Given the description of an element on the screen output the (x, y) to click on. 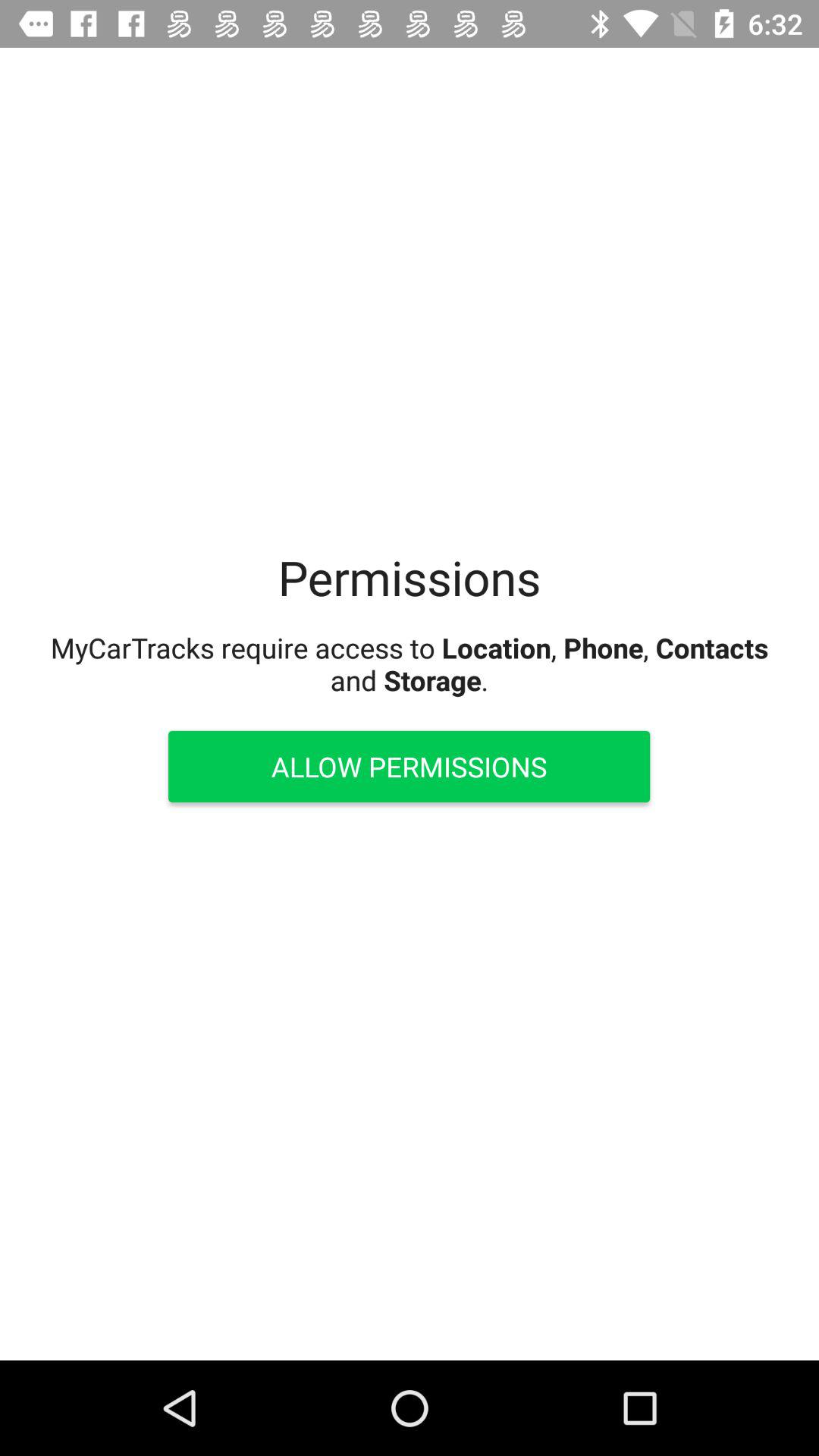
press the item below mycartracks require access (409, 766)
